Given the description of an element on the screen output the (x, y) to click on. 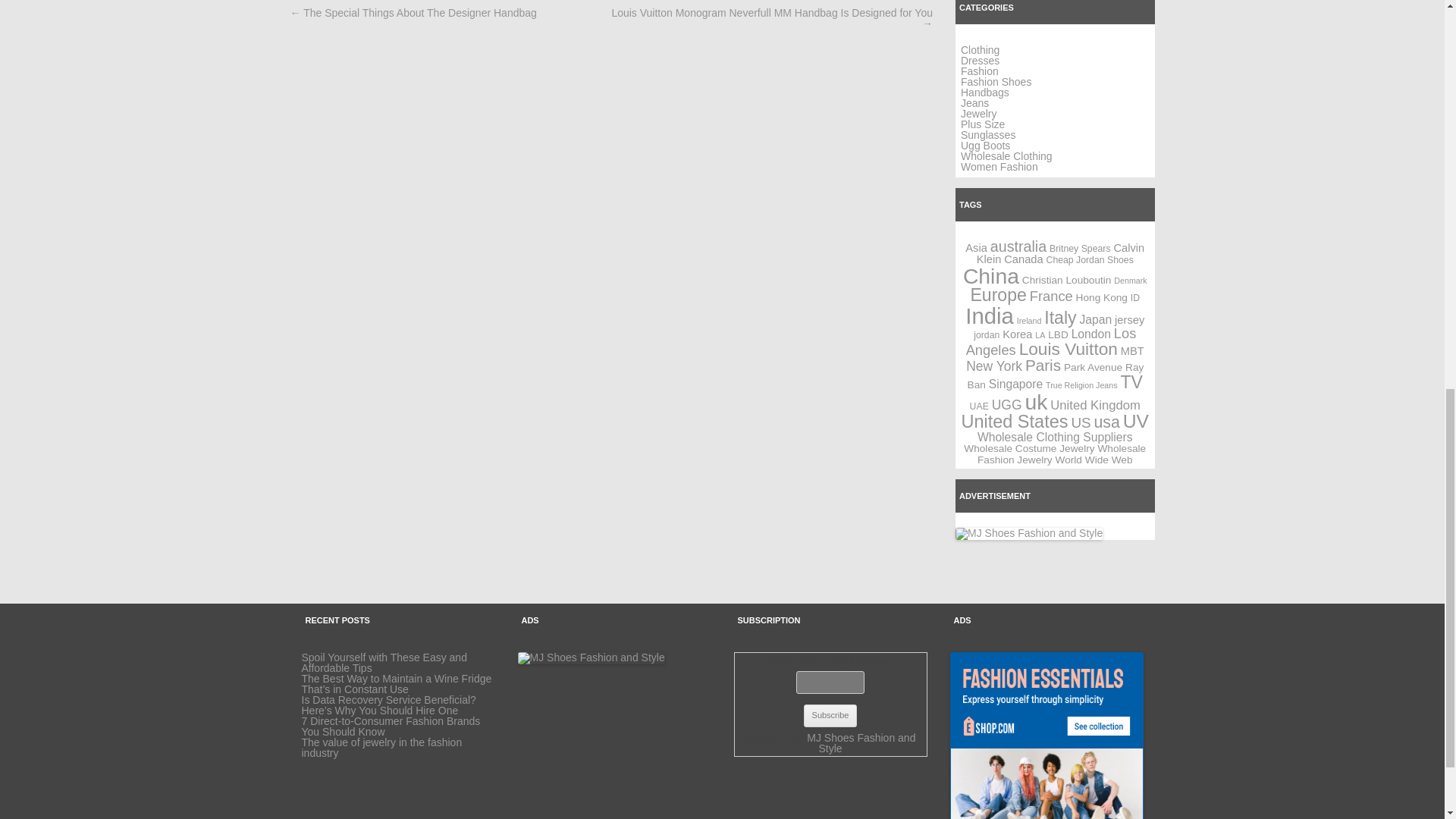
Jewelry (977, 113)
Jeans (974, 102)
Plus Size (982, 123)
Wholesale Clothing (1006, 155)
Fashion (979, 70)
Dresses (979, 60)
Fashion Shoes (995, 81)
Handbags (984, 92)
Ugg Boots (985, 145)
Clothing (979, 50)
Sunglasses (987, 134)
Subscribe (830, 715)
